Given the description of an element on the screen output the (x, y) to click on. 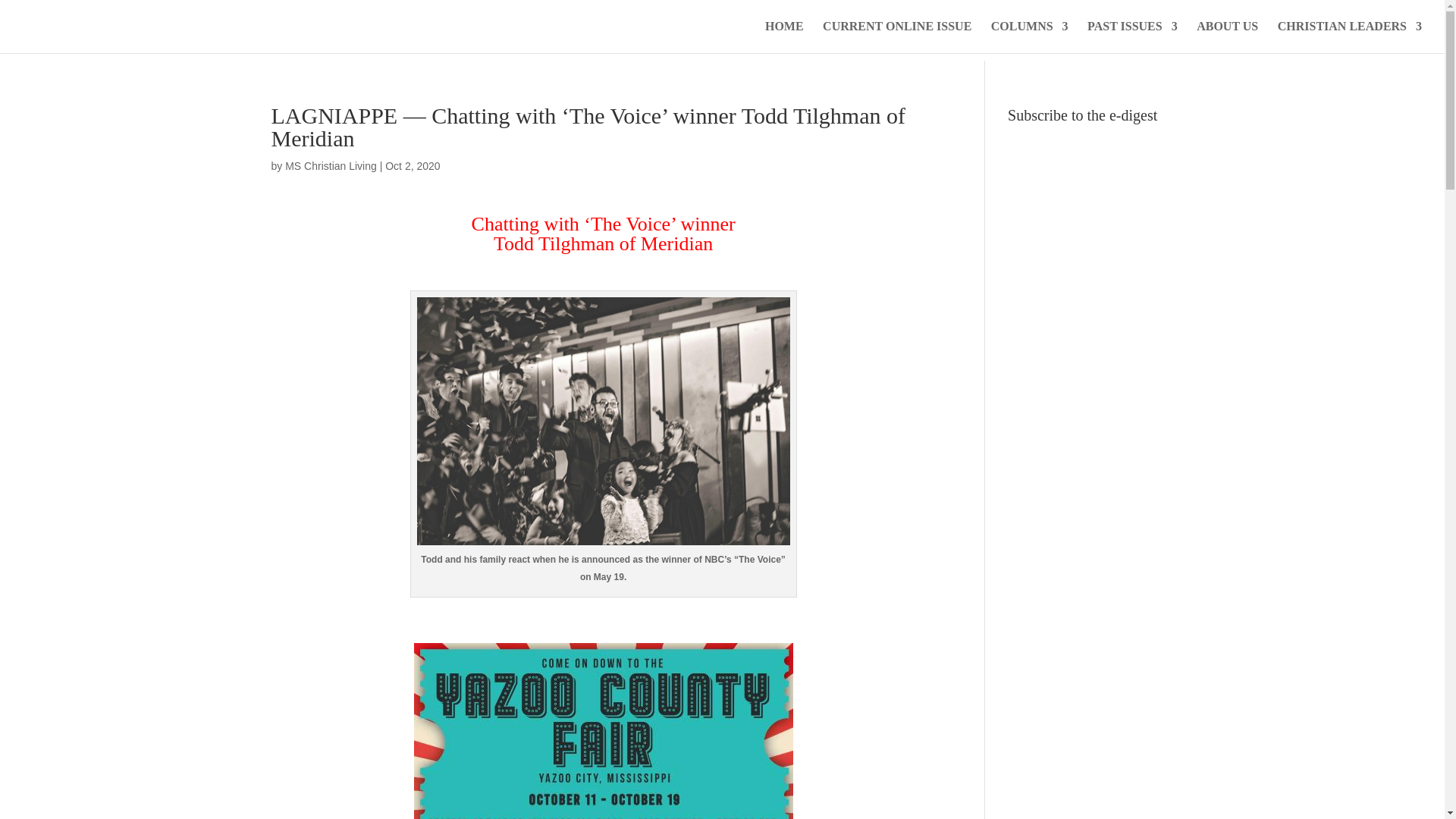
HOME (784, 37)
Posts by MS Christian Living (331, 165)
ABOUT US (1226, 37)
COLUMNS (1029, 37)
PAST ISSUES (1132, 37)
CURRENT ONLINE ISSUE (896, 37)
